Given the description of an element on the screen output the (x, y) to click on. 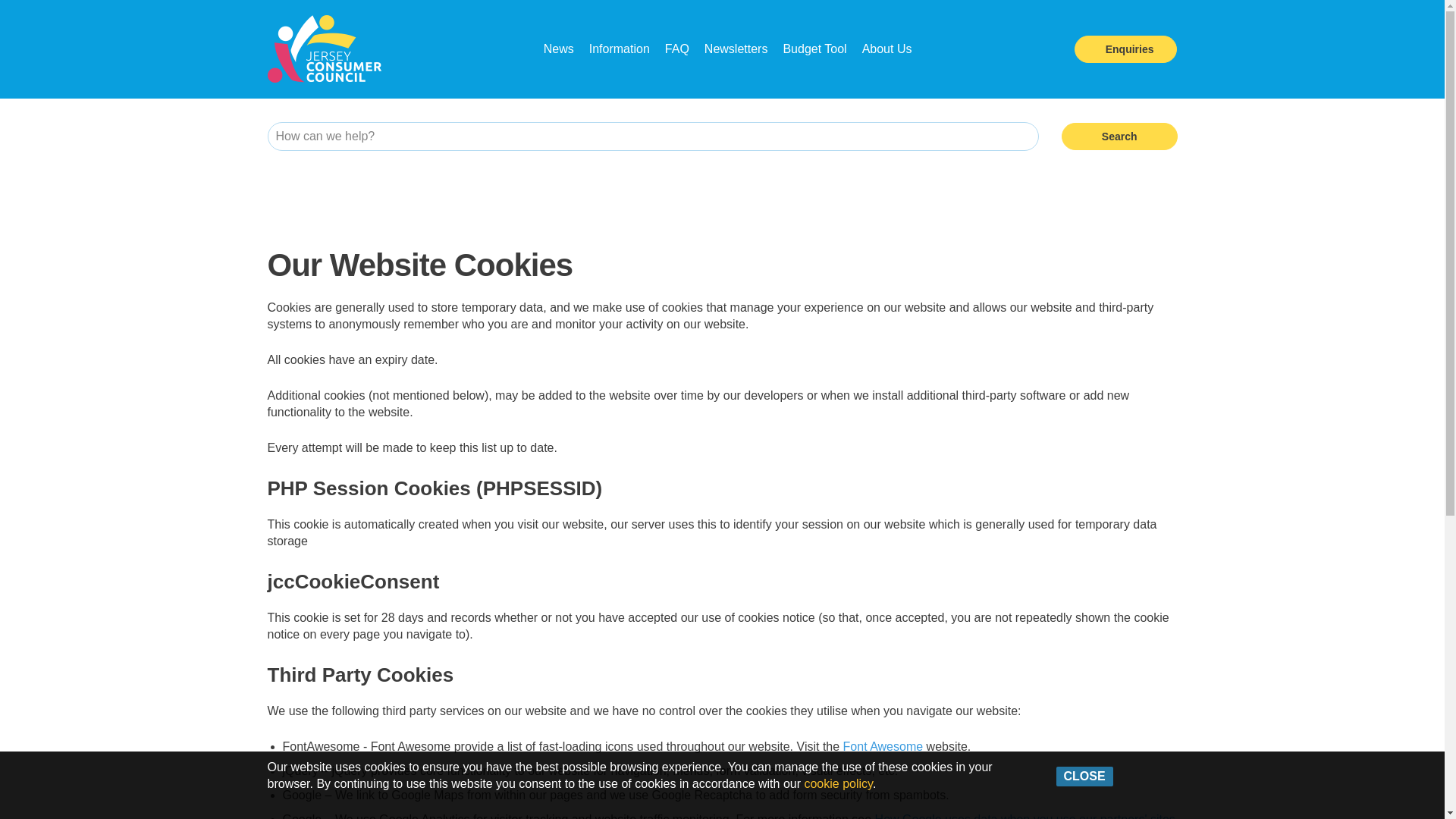
Search (1119, 135)
Budget Tool (814, 48)
Information (619, 48)
FAQ (676, 48)
Newsletters (736, 48)
News (558, 48)
Search (1119, 135)
About Us (886, 48)
Enquiries (1125, 49)
Font Awesome (883, 746)
